Given the description of an element on the screen output the (x, y) to click on. 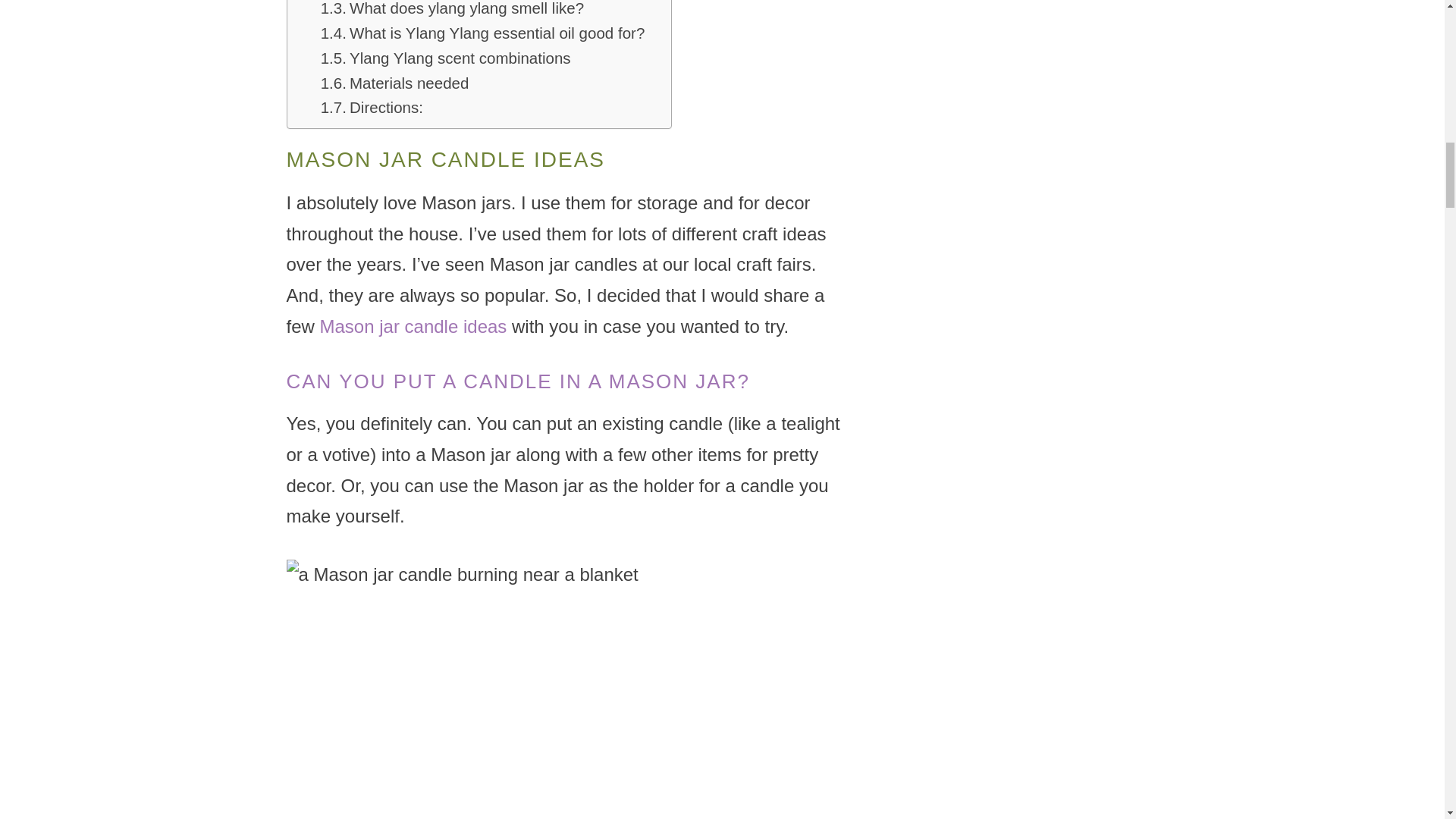
Ylang Ylang scent combinations (445, 58)
Directions: (371, 107)
What is Ylang Ylang essential oil good for? (482, 33)
What does ylang ylang smell like? (451, 10)
Materials needed (394, 83)
